Given the description of an element on the screen output the (x, y) to click on. 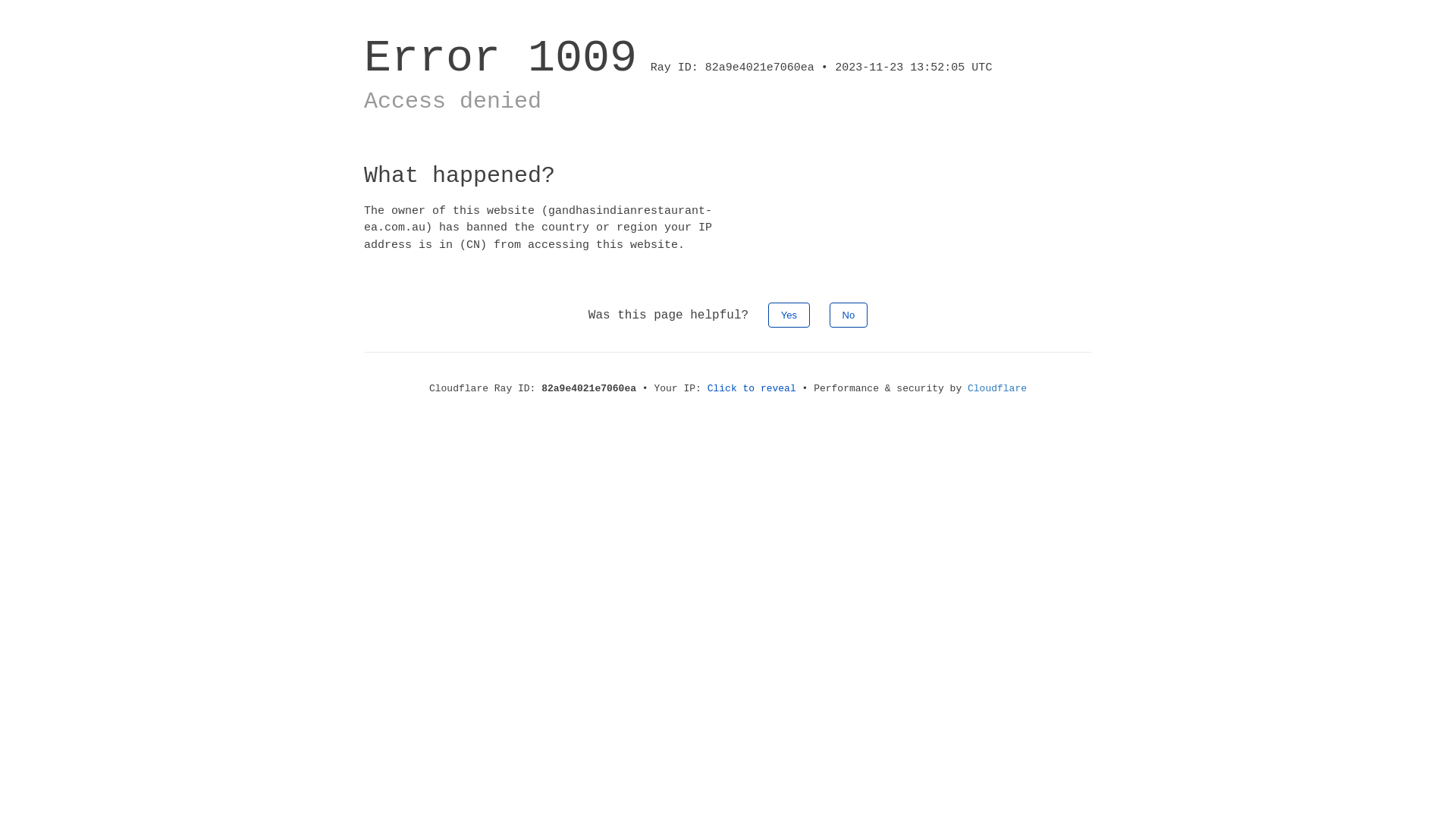
Click to reveal Element type: text (751, 388)
Cloudflare Element type: text (996, 388)
No Element type: text (848, 314)
Yes Element type: text (788, 314)
